Given the description of an element on the screen output the (x, y) to click on. 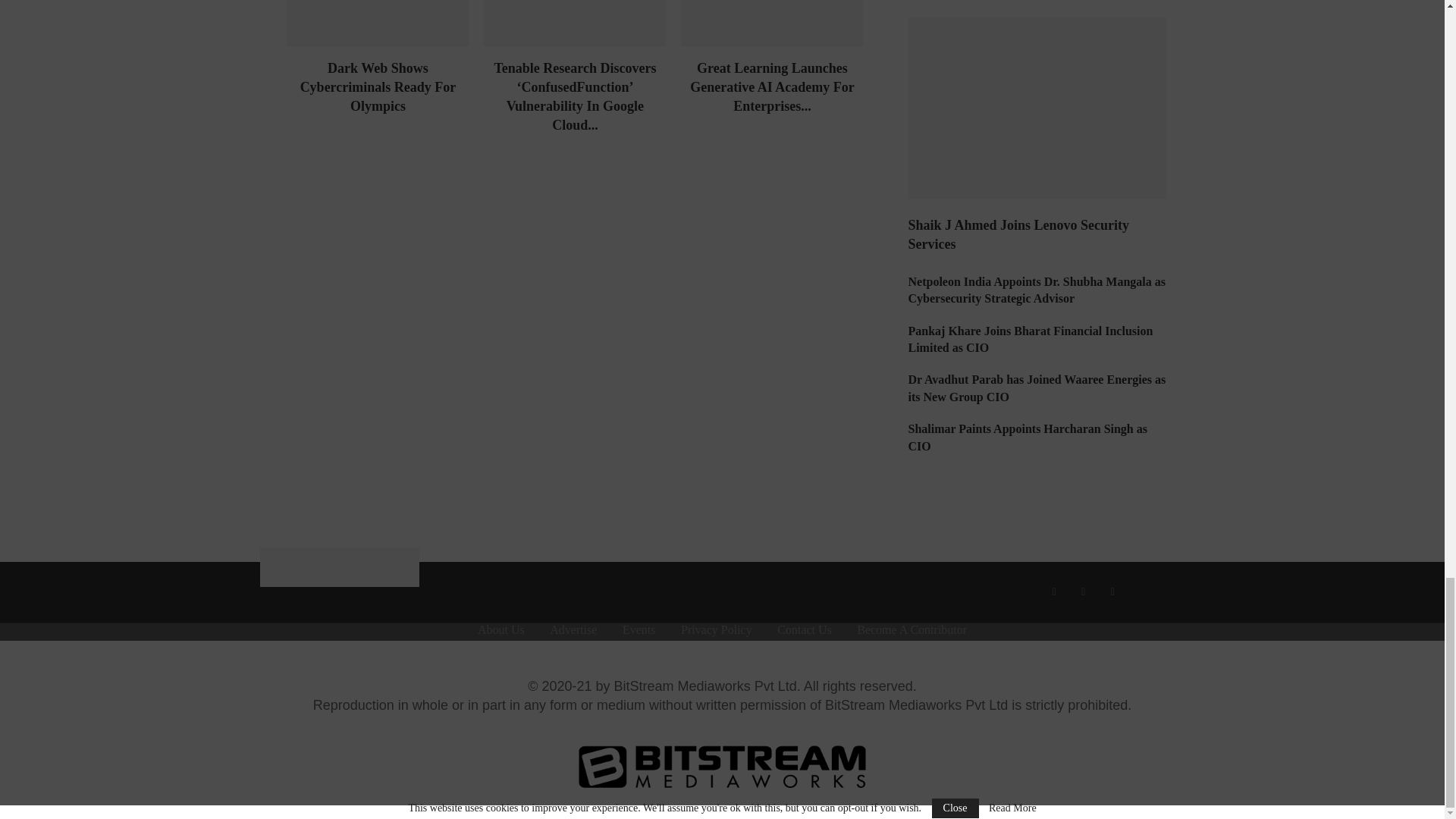
Dark Web Shows Cybercriminals Ready for Olympics (377, 22)
